Given the description of an element on the screen output the (x, y) to click on. 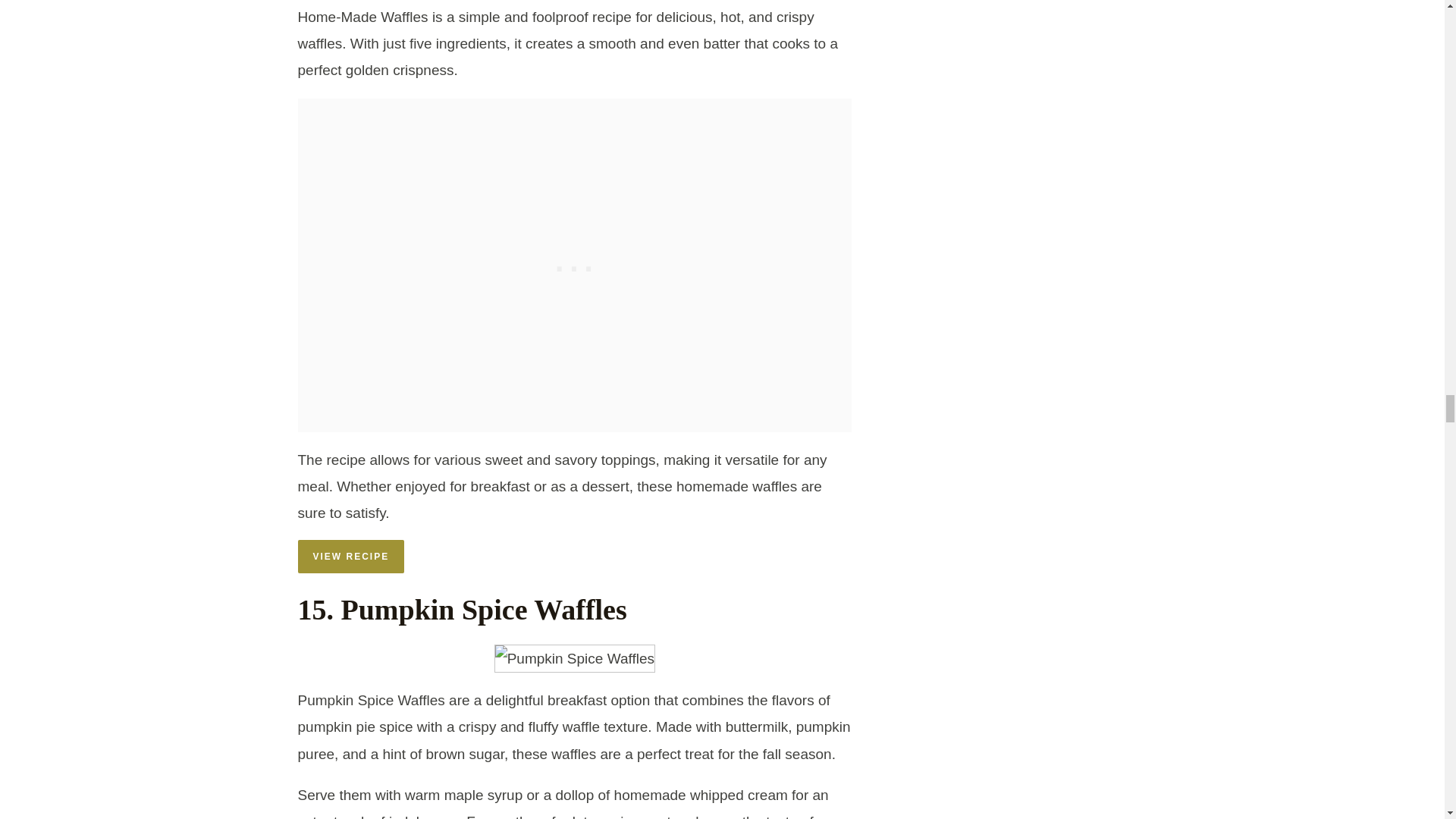
Pumpkin Spice Waffles (575, 658)
VIEW RECIPE (350, 556)
